Given the description of an element on the screen output the (x, y) to click on. 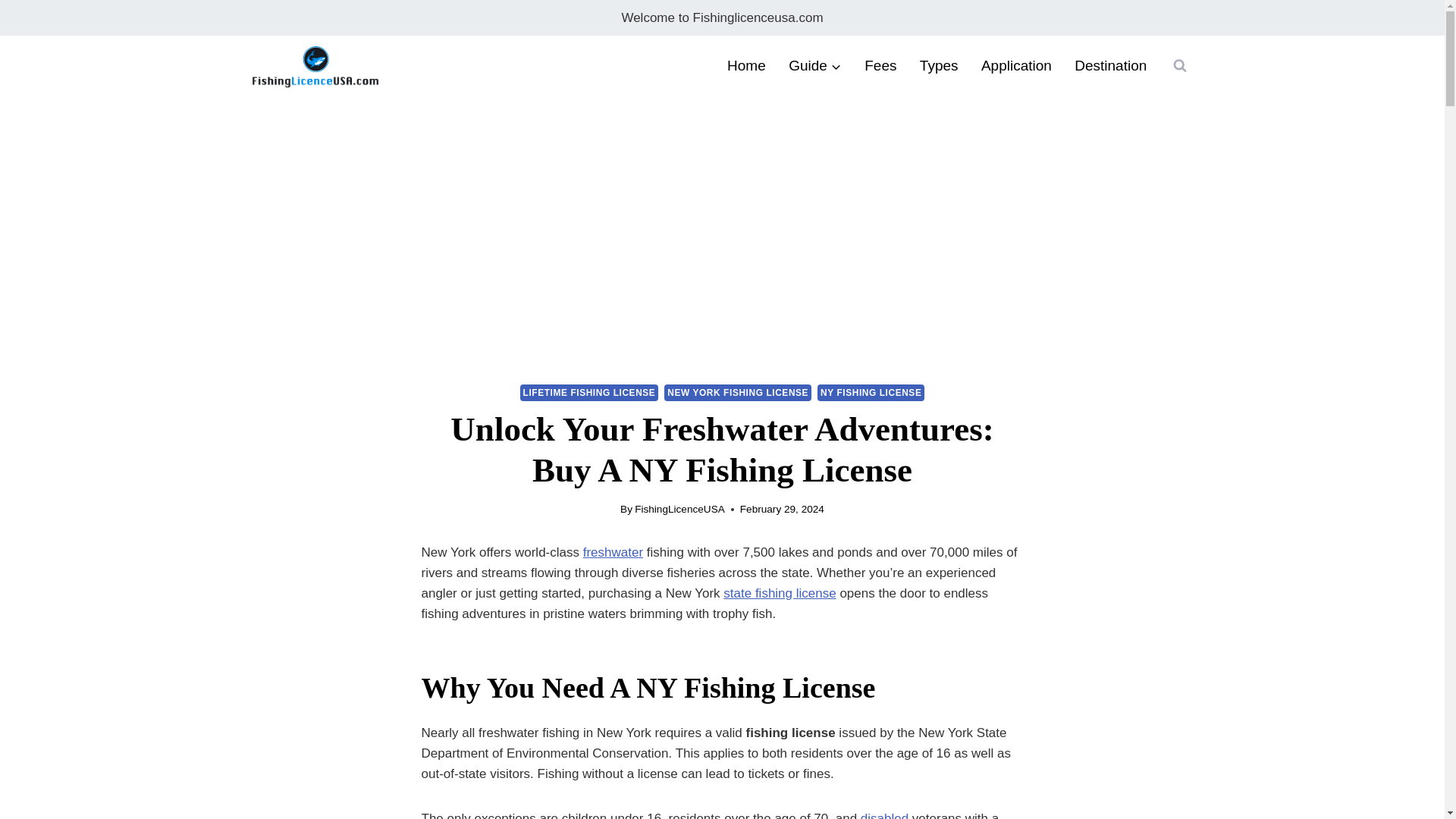
disabled (884, 815)
Guide (815, 65)
Home (746, 65)
freshwater (613, 552)
state fishing license (779, 593)
